Given the description of an element on the screen output the (x, y) to click on. 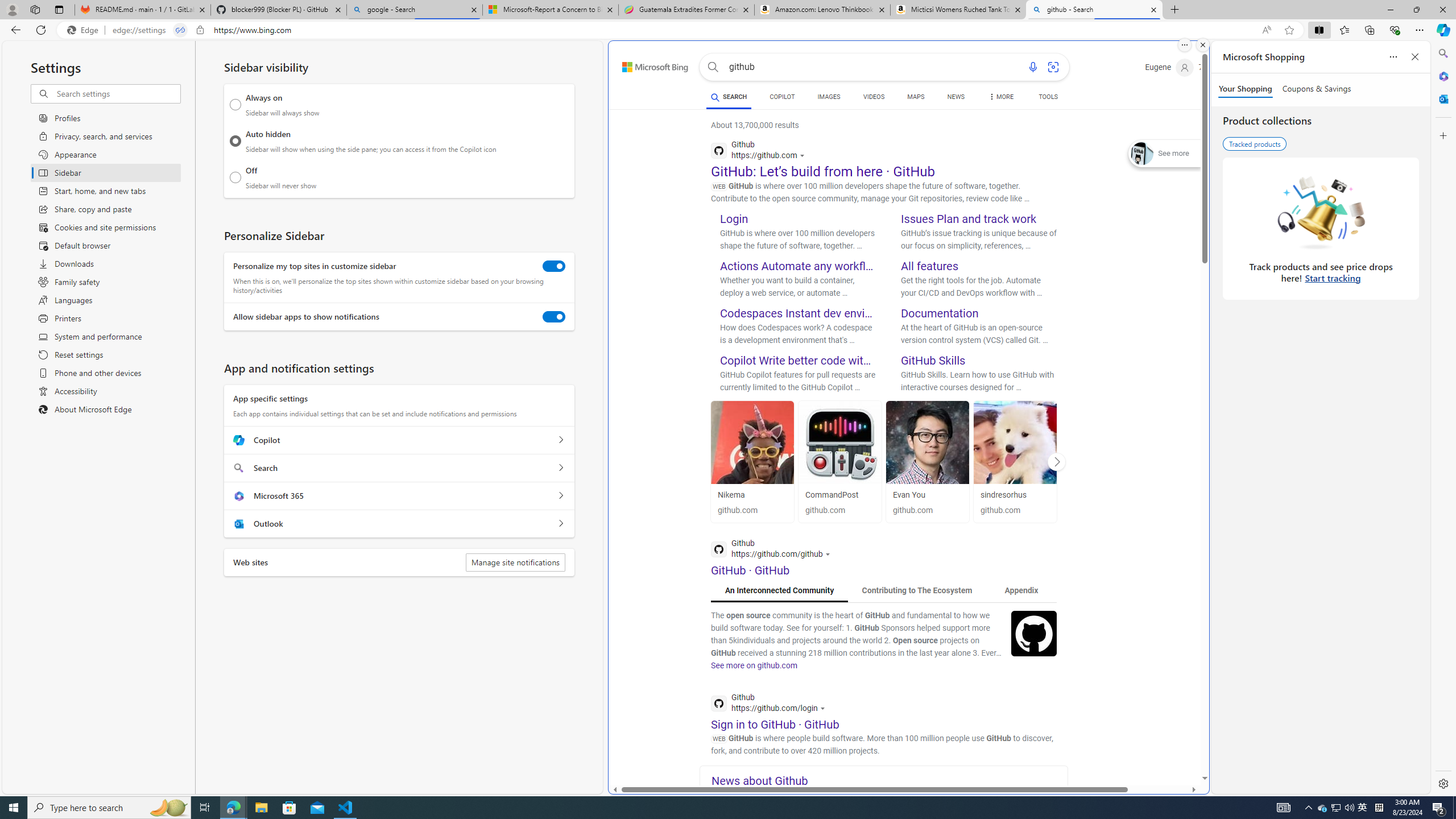
Personalize my top sites in customize sidebar (553, 265)
Nikema (731, 494)
CommandPost (840, 494)
Expand See more (1164, 153)
Evan You (927, 442)
